Given the description of an element on the screen output the (x, y) to click on. 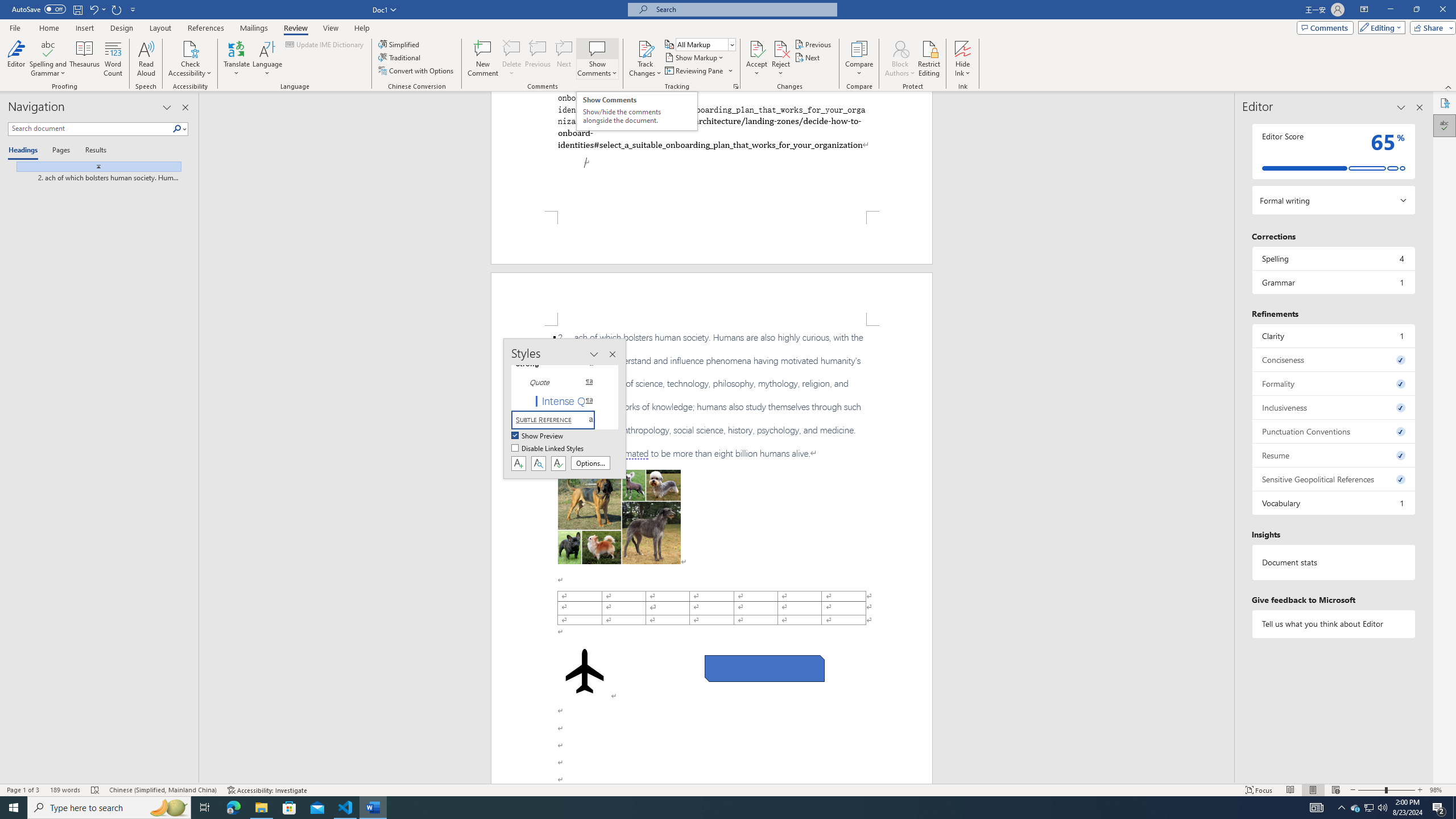
Reject (780, 58)
Options... (590, 463)
Repeat Style (117, 9)
Page 1 content (711, 151)
